Given the description of an element on the screen output the (x, y) to click on. 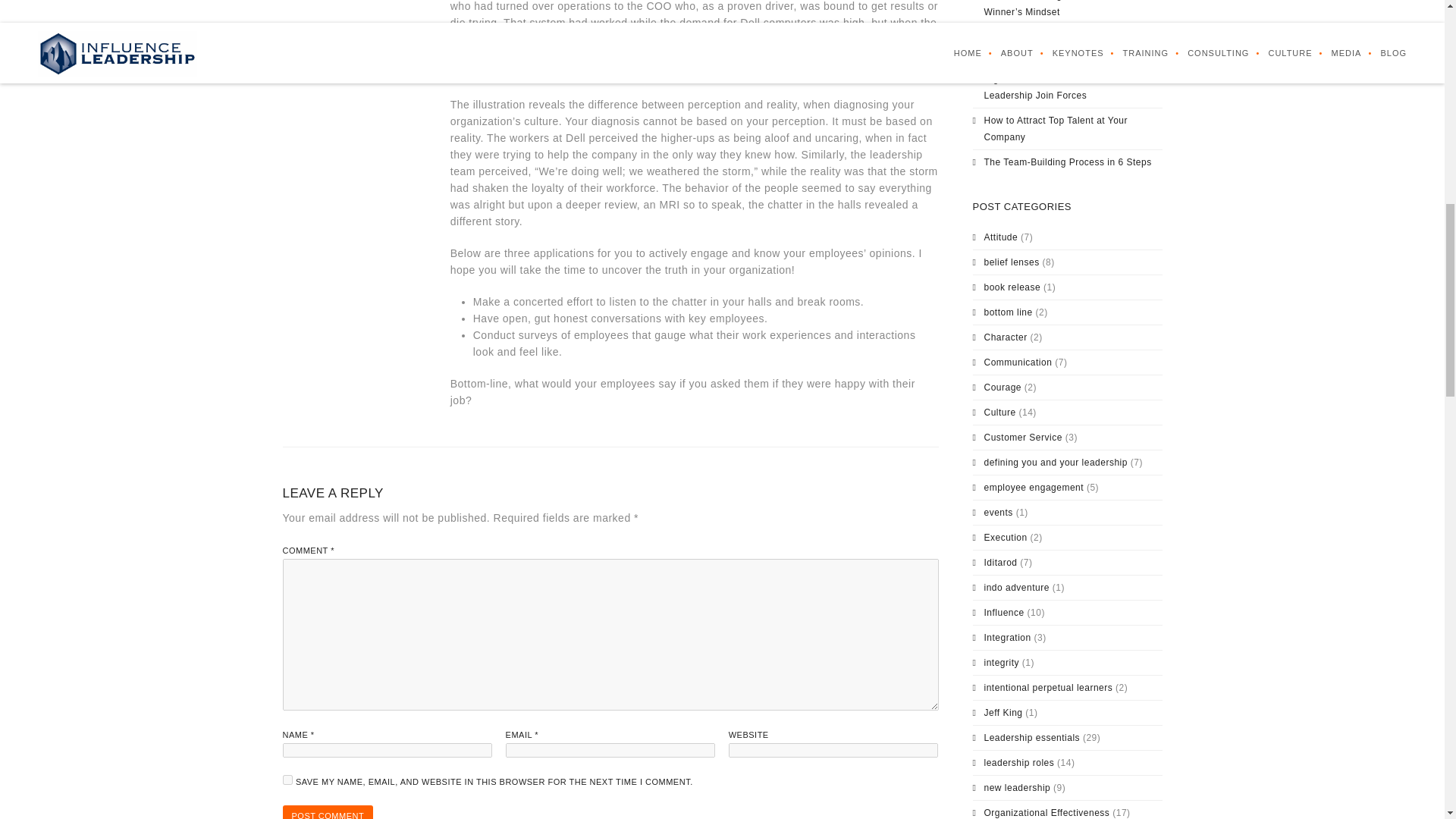
Post Comment (327, 812)
yes (287, 779)
